Given the description of an element on the screen output the (x, y) to click on. 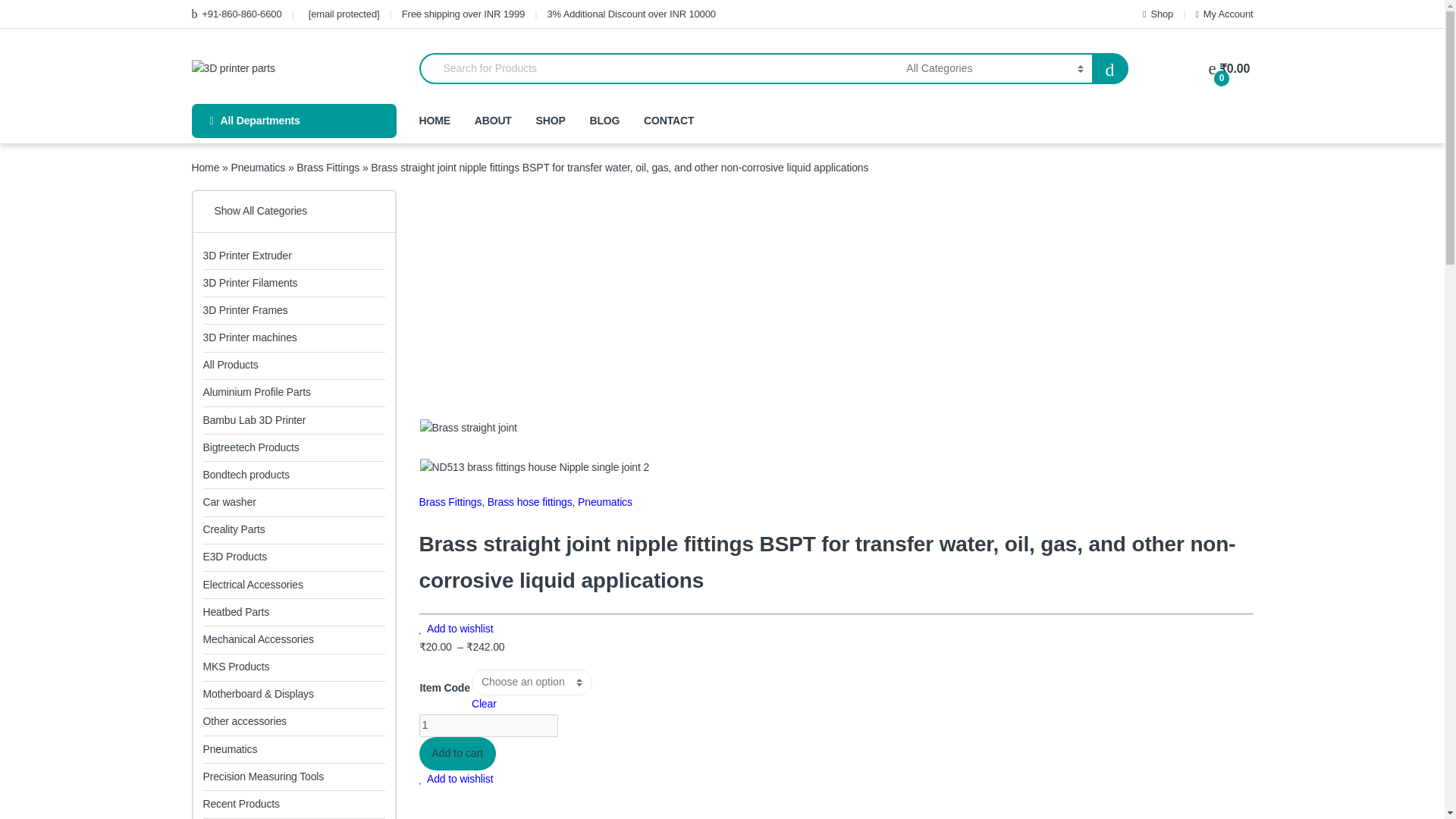
My Account (1223, 13)
1 (488, 725)
Shop (1157, 13)
Free shipping over INR 1999 (462, 13)
My Account (1223, 13)
Shop (1157, 13)
Free shipping over INR 1999 (462, 13)
